Given the description of an element on the screen output the (x, y) to click on. 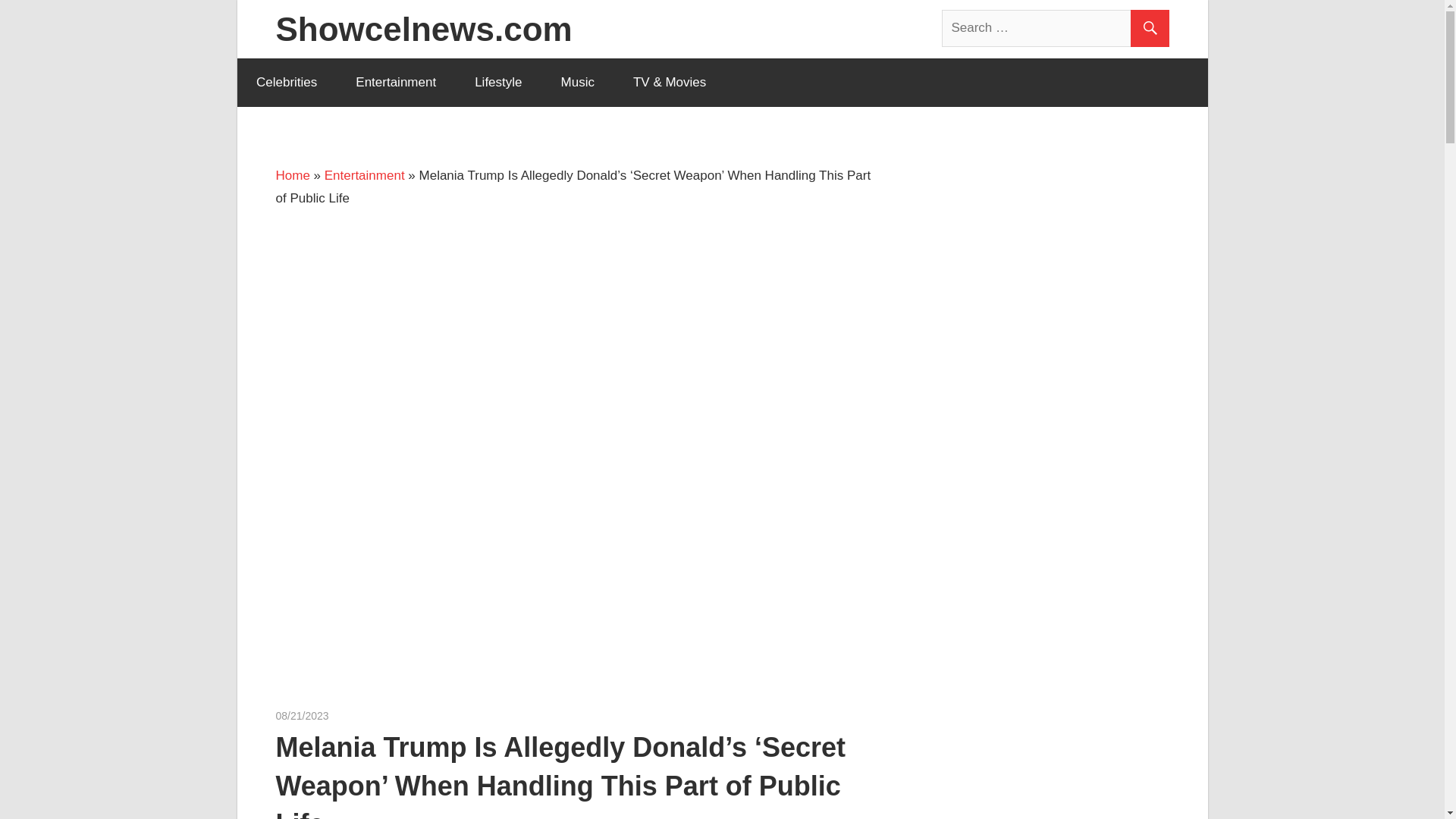
Music (576, 82)
Lifestyle (498, 82)
Entertainment (395, 82)
Entertainment (364, 175)
Search for: (1055, 27)
18:09 (302, 715)
Showcelnews.com (424, 28)
Celebrities (285, 82)
Home (293, 175)
